Given the description of an element on the screen output the (x, y) to click on. 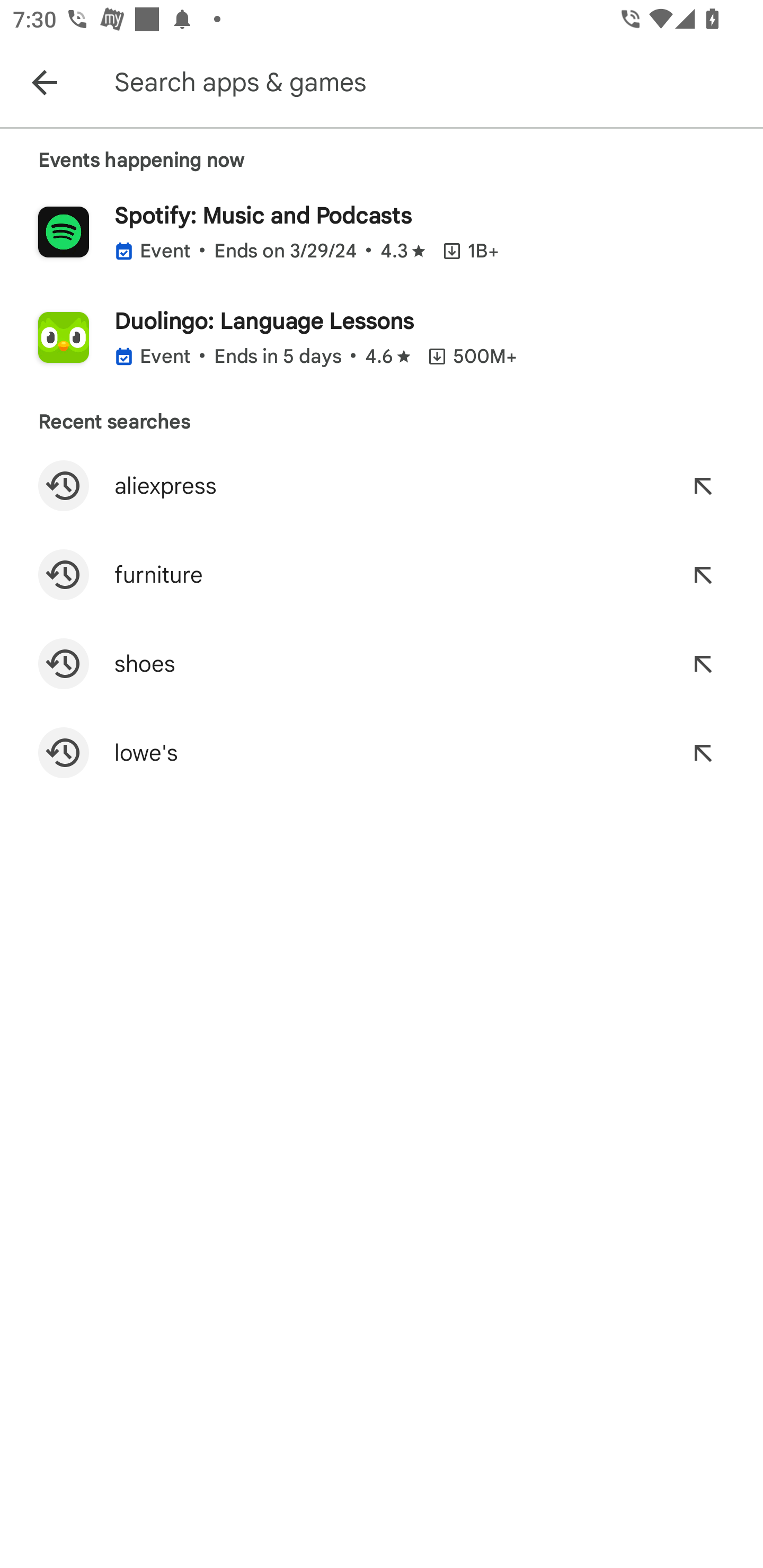
Navigate up (44, 81)
Search apps & games (435, 81)
Refine search to "aliexpress" (702, 484)
Refine search to "furniture" (702, 574)
Search for "shoes"  Refine search to "shoes" (381, 663)
Refine search to "shoes" (702, 663)
Search for "lowe's"  Refine search to "lowe's" (381, 752)
Refine search to "lowe's" (702, 752)
